Given the description of an element on the screen output the (x, y) to click on. 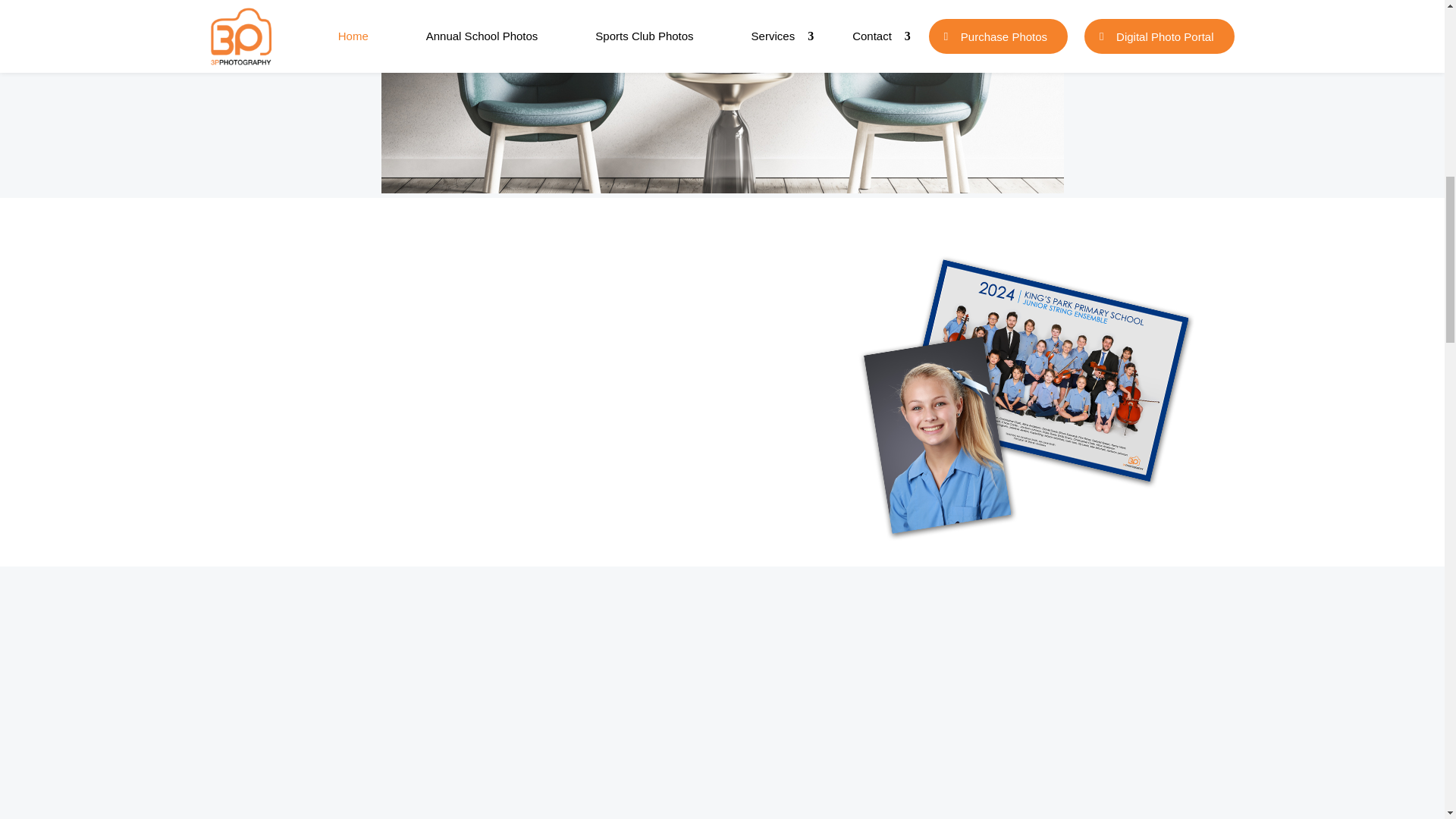
Modern Poster Mockup Vol.8 by Anthony Boyd Graphics (721, 96)
